Given the description of an element on the screen output the (x, y) to click on. 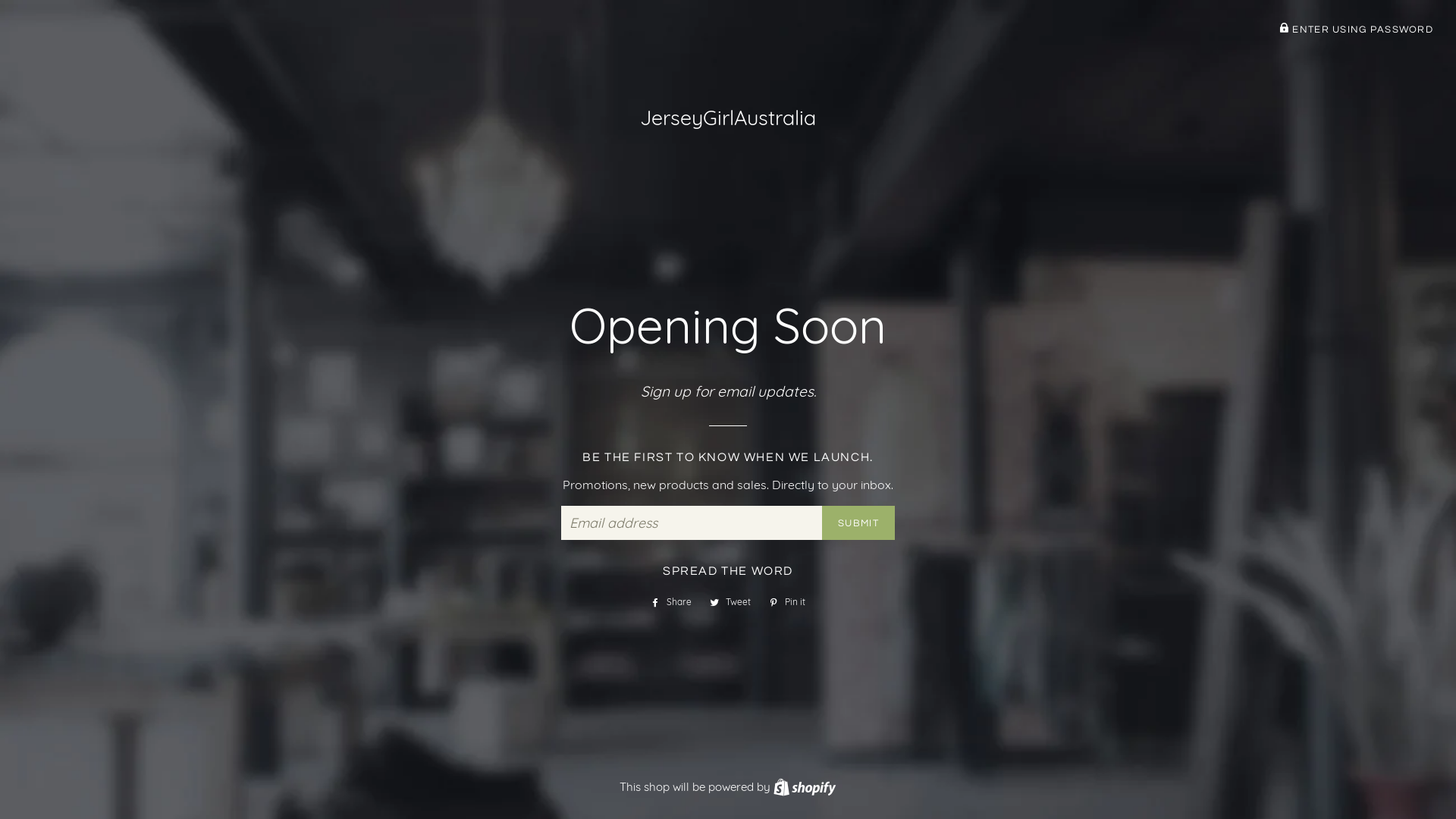
Shopify logo
Shopify Element type: text (804, 786)
Pin it
Pin on Pinterest Element type: text (786, 601)
Submit Element type: text (858, 522)
Tweet
Tweet on Twitter Element type: text (730, 601)
LOCK ICON ENTER USING PASSWORD Element type: text (1356, 29)
Share
Share on Facebook Element type: text (671, 601)
